Given the description of an element on the screen output the (x, y) to click on. 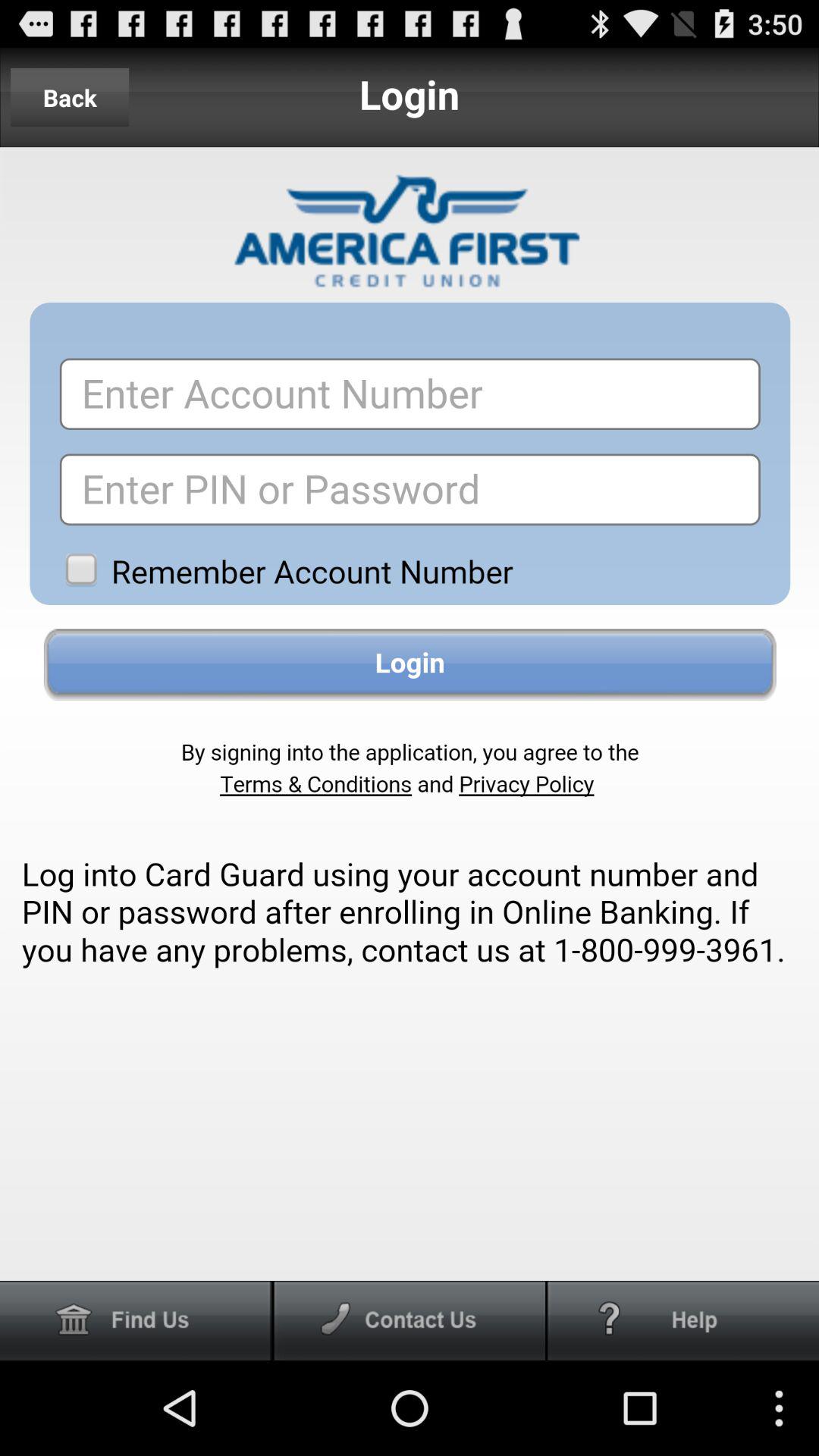
symbol (683, 1320)
